Given the description of an element on the screen output the (x, y) to click on. 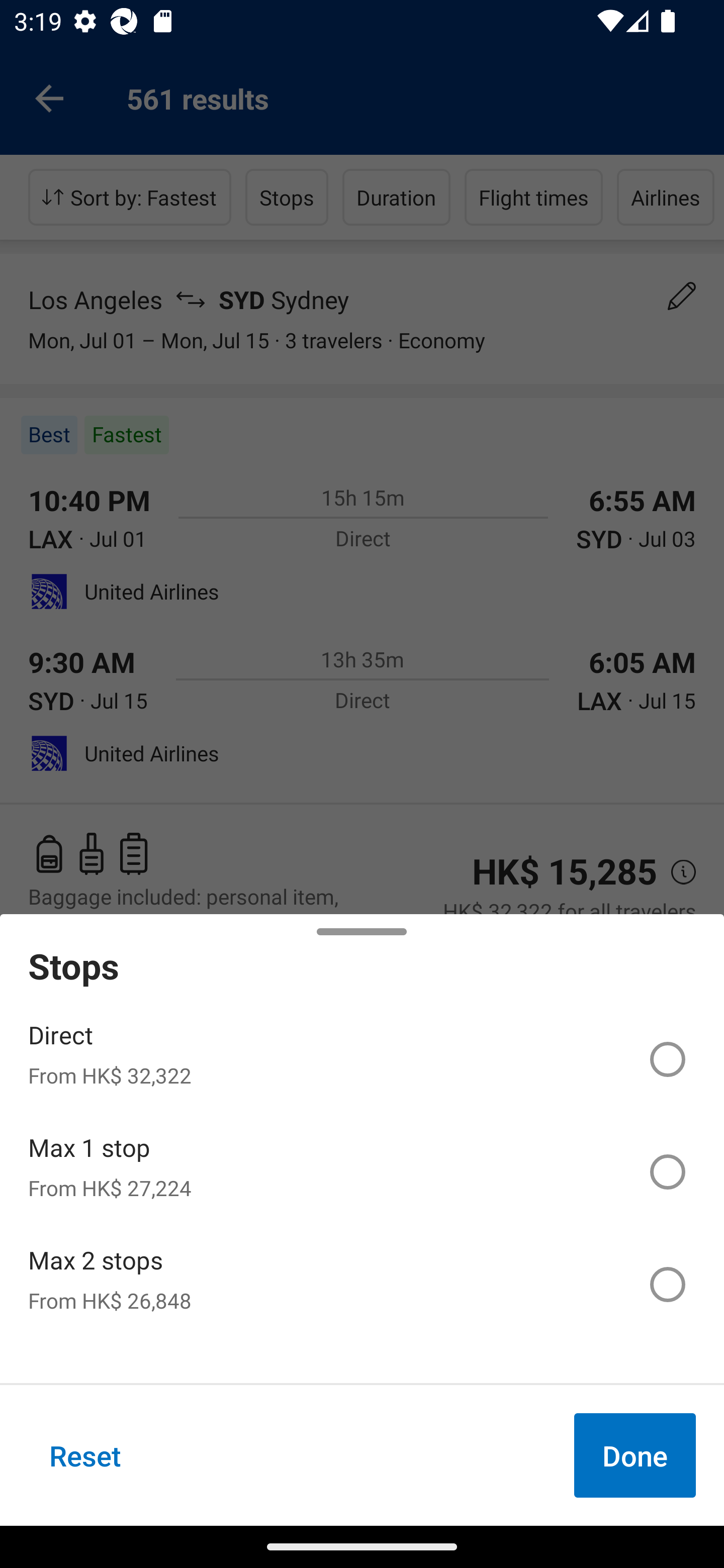
Direct From HK$ 32,322 (362, 1059)
Max 1 stop From HK$ 27,224 (362, 1171)
Max 2 stops From HK$ 26,848 (362, 1283)
Reset (85, 1454)
Done (634, 1454)
